Given the description of an element on the screen output the (x, y) to click on. 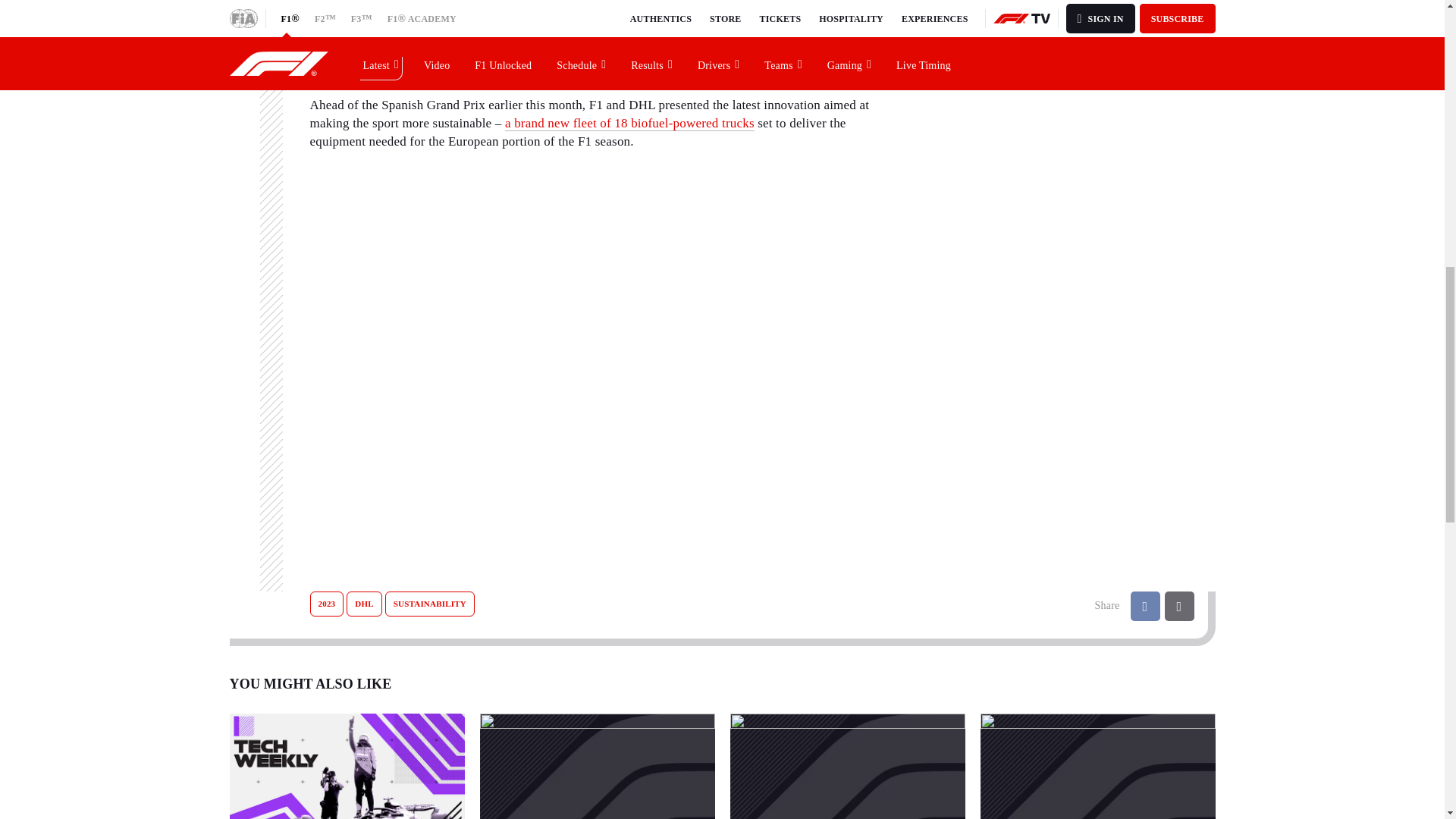
Discover more news (1018, 2)
a brand new fleet of 18 biofuel-powered trucks (629, 123)
